Given the description of an element on the screen output the (x, y) to click on. 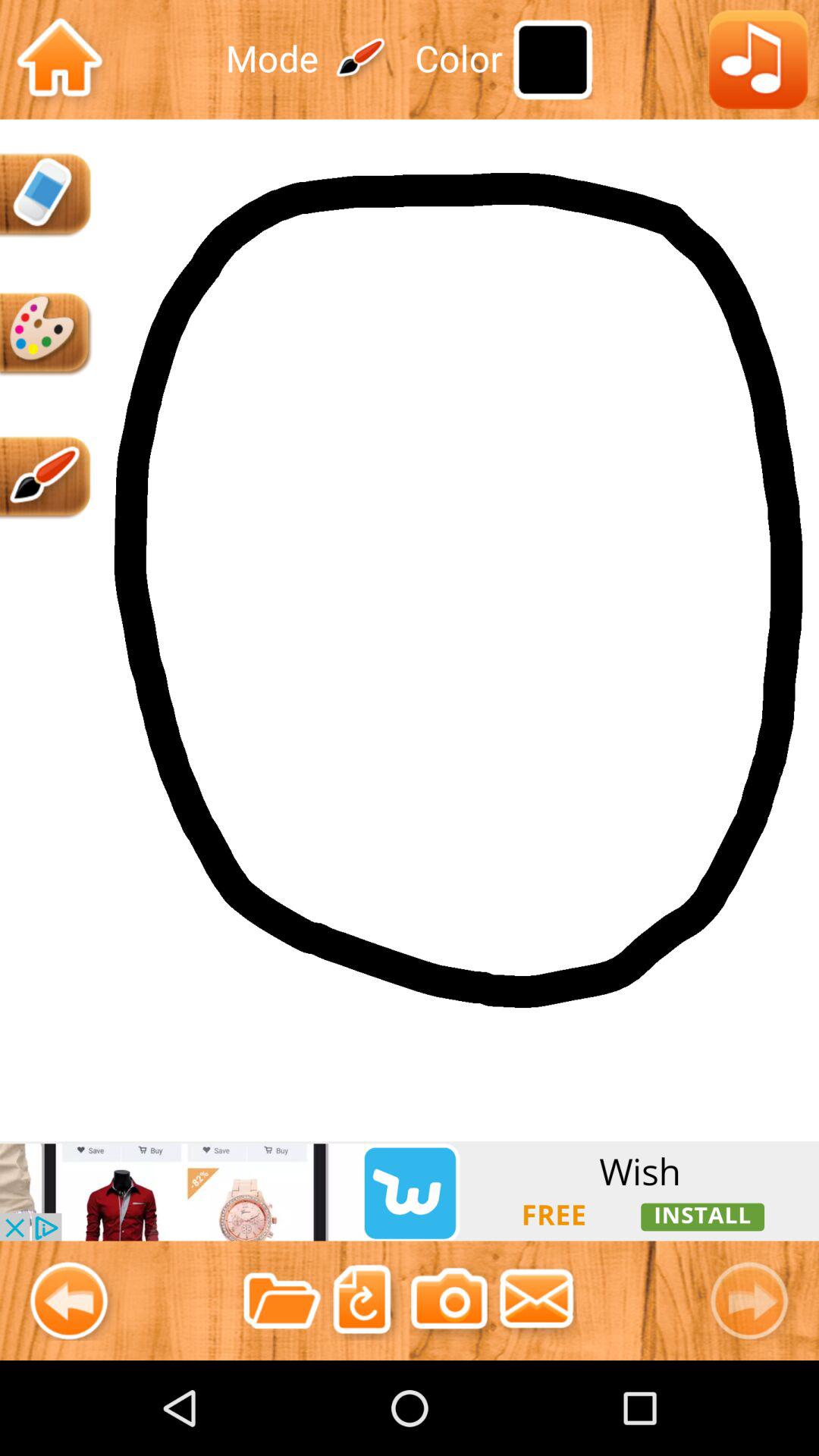
open paint tray (46, 334)
